Given the description of an element on the screen output the (x, y) to click on. 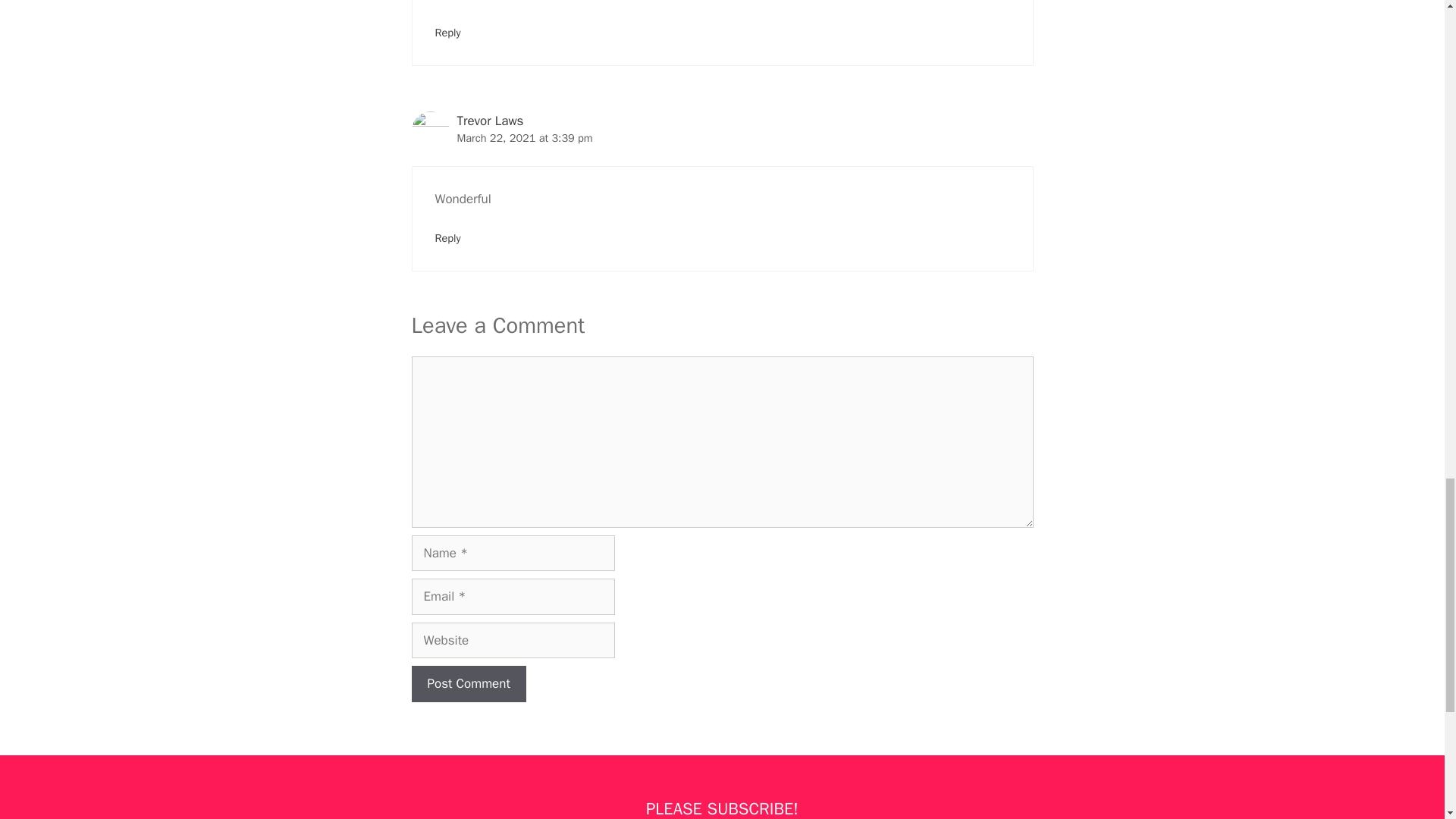
Trevor Laws (489, 119)
Reply (448, 32)
March 22, 2021 at 3:39 pm (524, 137)
Post Comment (467, 683)
Reply (448, 237)
Post Comment (467, 683)
